Given the description of an element on the screen output the (x, y) to click on. 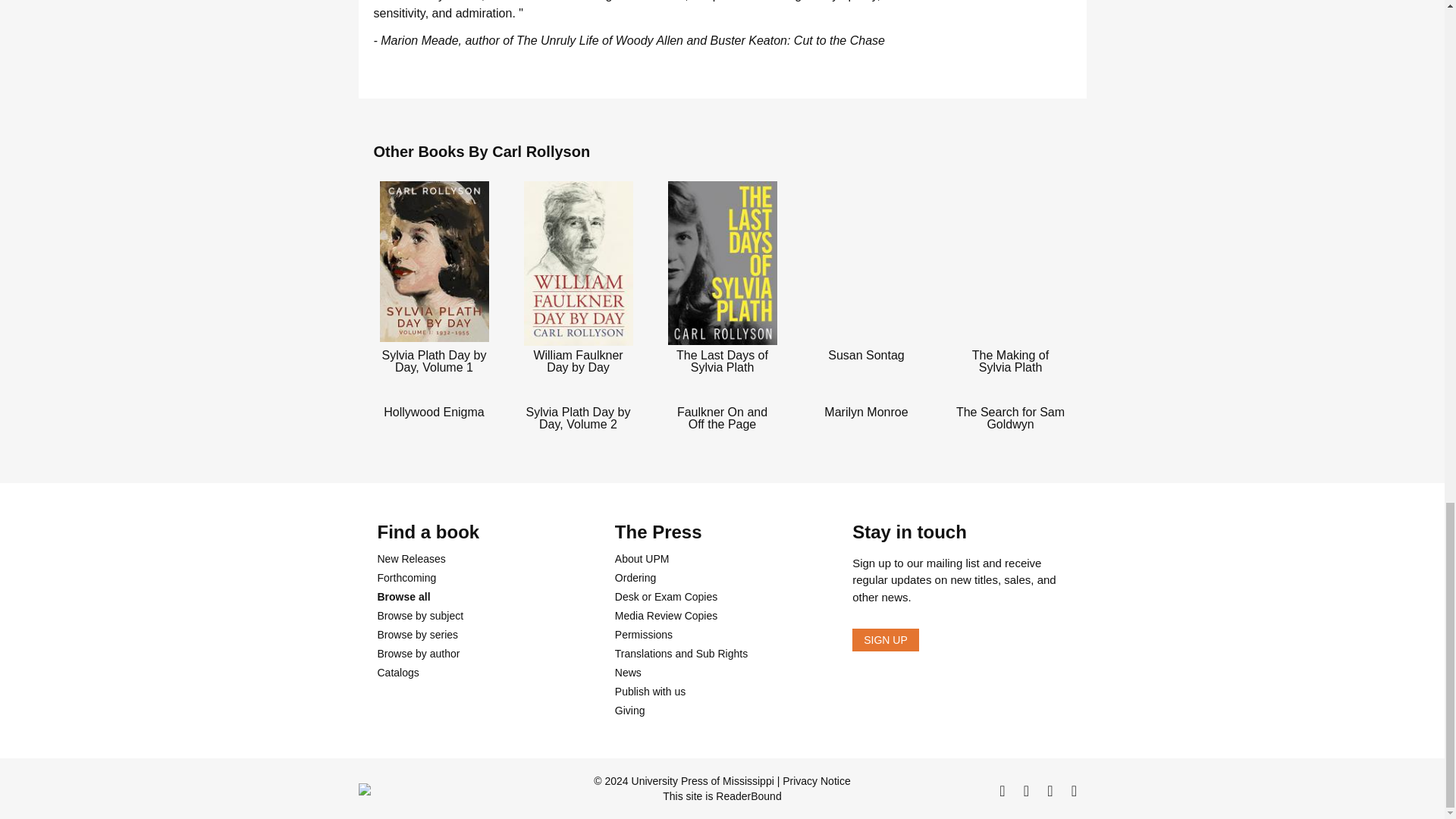
View Faulkner On and Off the Page (722, 416)
View Marilyn Monroe (865, 410)
View Sylvia Plath Day by Day, Volume 2 (577, 416)
View Hollywood Enigma (433, 410)
View The Search for Sam Goldwyn (1009, 416)
